Given the description of an element on the screen output the (x, y) to click on. 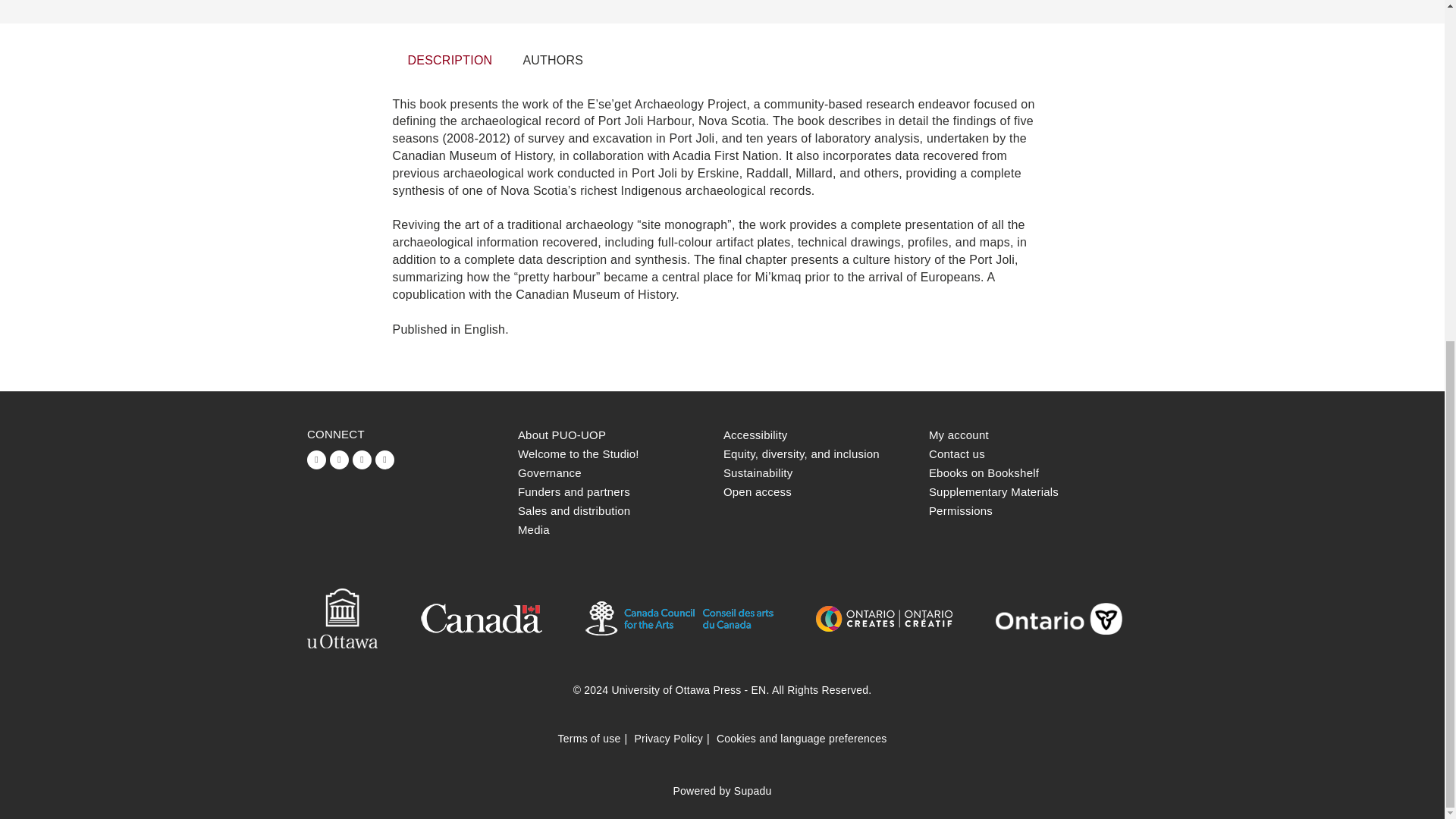
Follow us on LinkedIn (361, 459)
Follow us on Instagram (384, 459)
Follow us on Facebook (316, 459)
